Given the description of an element on the screen output the (x, y) to click on. 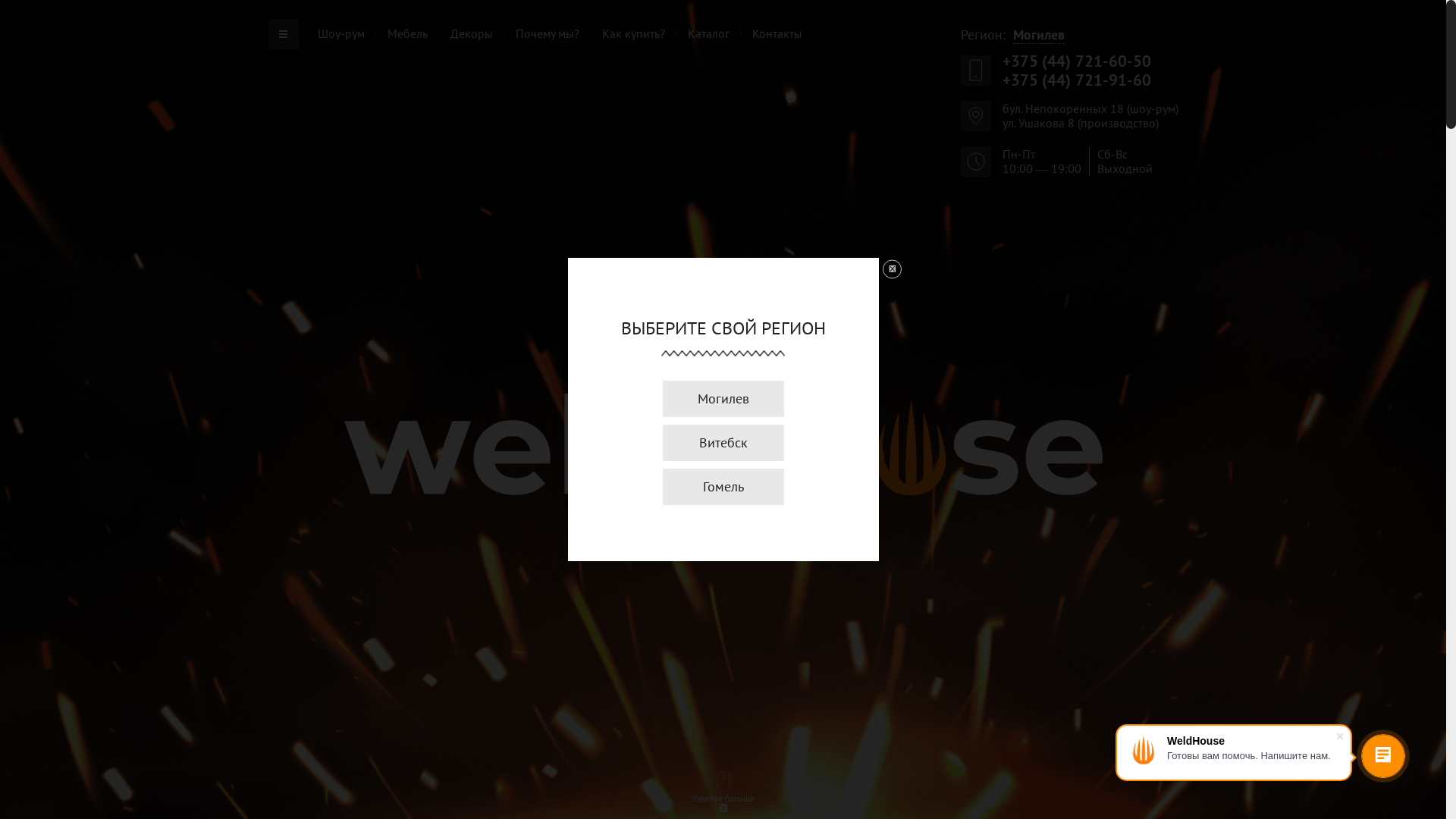
+375 (44) 721-60-50 Element type: text (1076, 60)
+375 (44) 721-91-60 Element type: text (1076, 79)
